Given the description of an element on the screen output the (x, y) to click on. 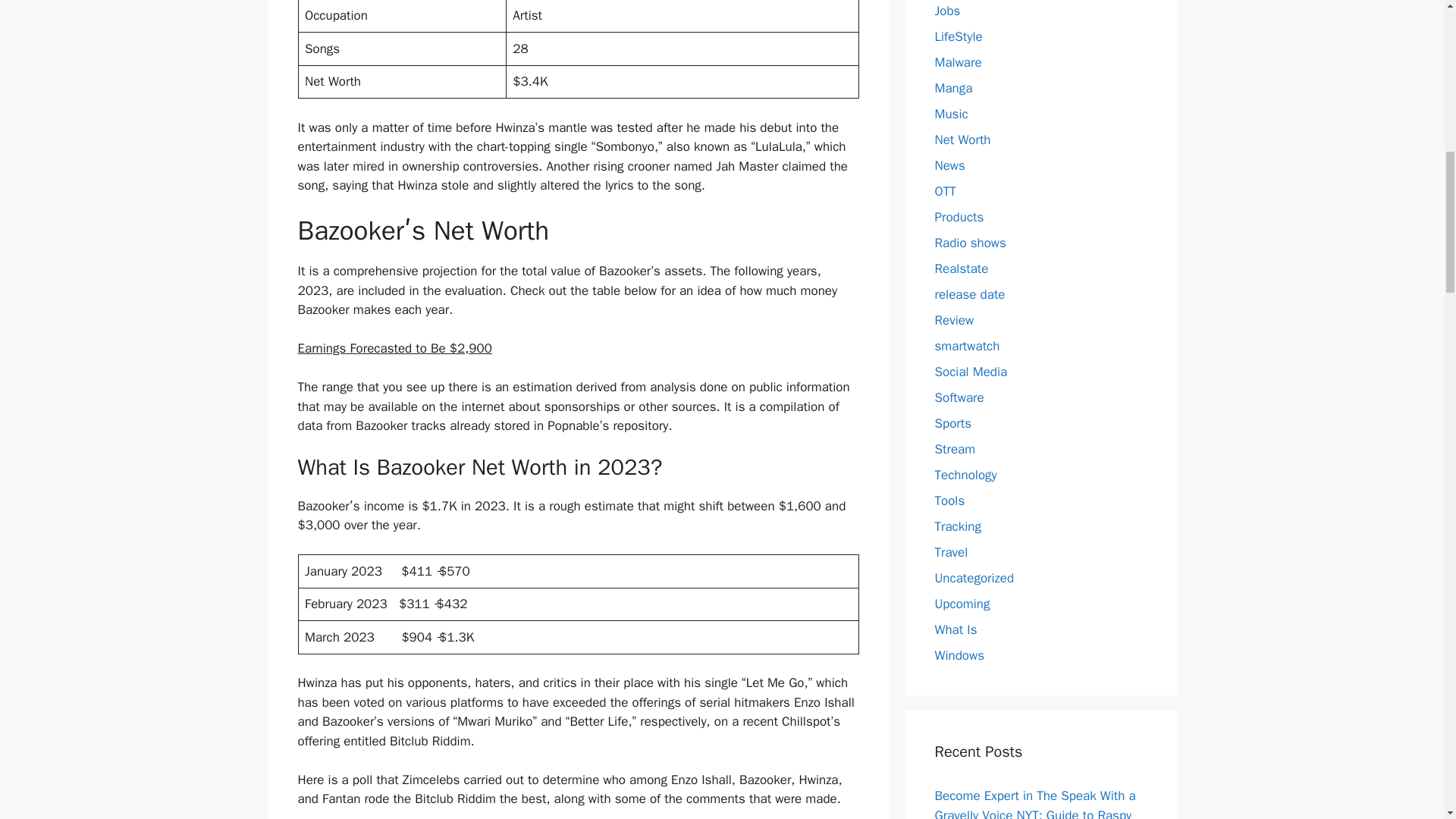
LifeStyle (957, 36)
News (948, 165)
Jobs (946, 10)
OTT (944, 191)
Social Media (970, 371)
smartwatch (966, 345)
Software (959, 397)
Review (954, 320)
Radio shows (970, 242)
Products (959, 217)
Malware (957, 62)
Manga (953, 88)
Realstate (961, 268)
release date (969, 294)
Net Worth (962, 139)
